Given the description of an element on the screen output the (x, y) to click on. 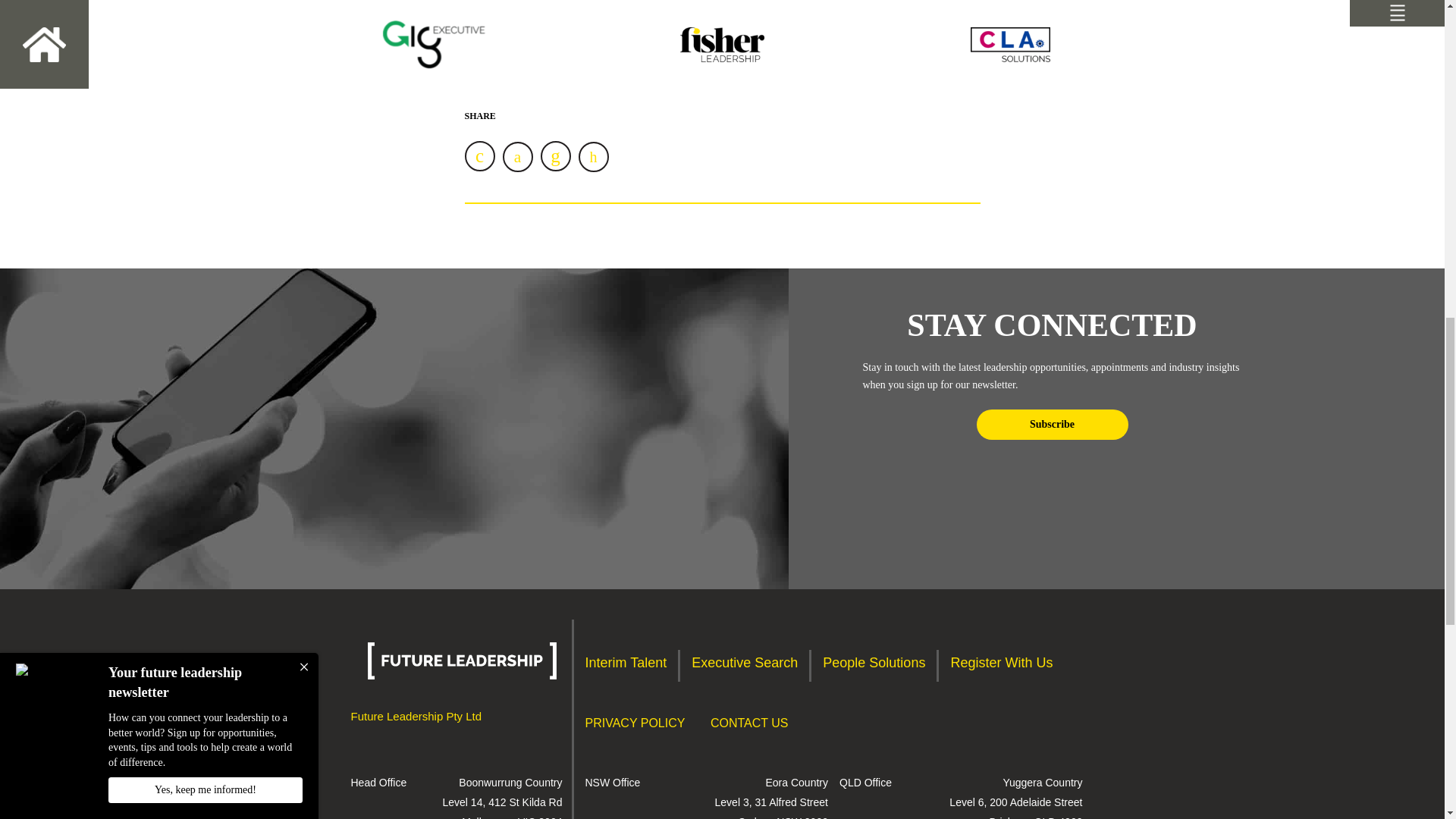
Subscribe (1052, 424)
